Given the description of an element on the screen output the (x, y) to click on. 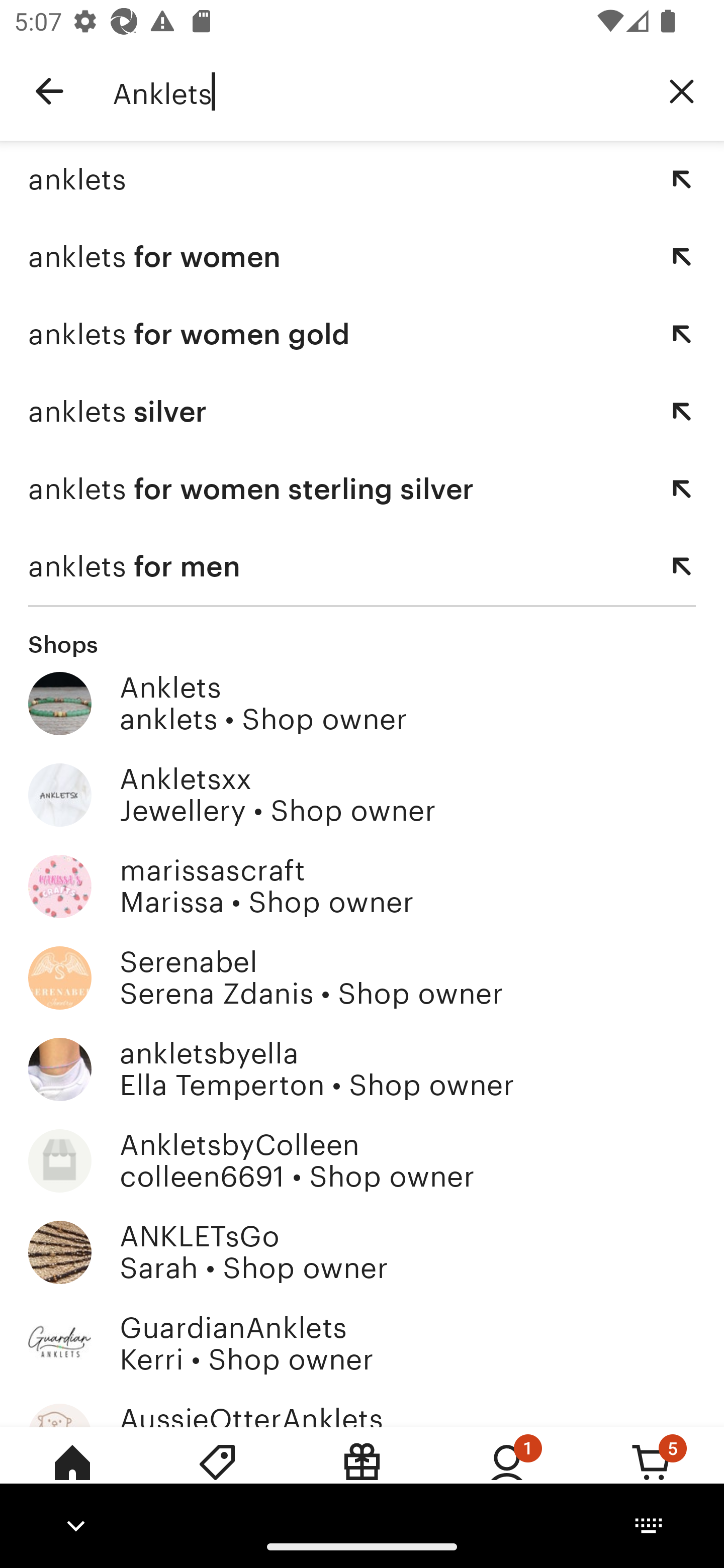
Navigate up (49, 91)
Clear query (681, 90)
Anklets (375, 91)
Populate the search field with anklets suggestion (681, 179)
Deals (216, 1475)
Gift Mode (361, 1475)
You, 1 new notification (506, 1475)
Cart, 5 new notifications (651, 1475)
